Given the description of an element on the screen output the (x, y) to click on. 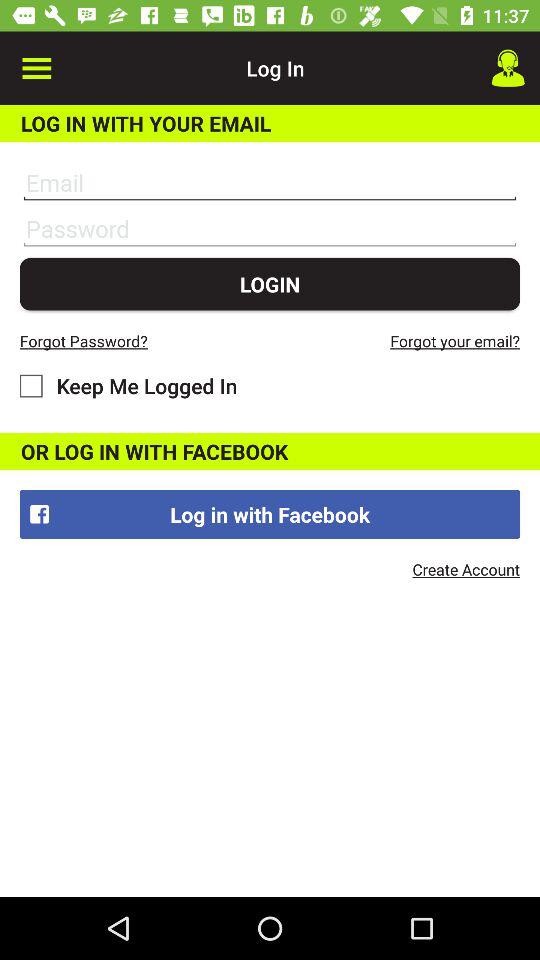
launch the item to the left of the log in (36, 68)
